Given the description of an element on the screen output the (x, y) to click on. 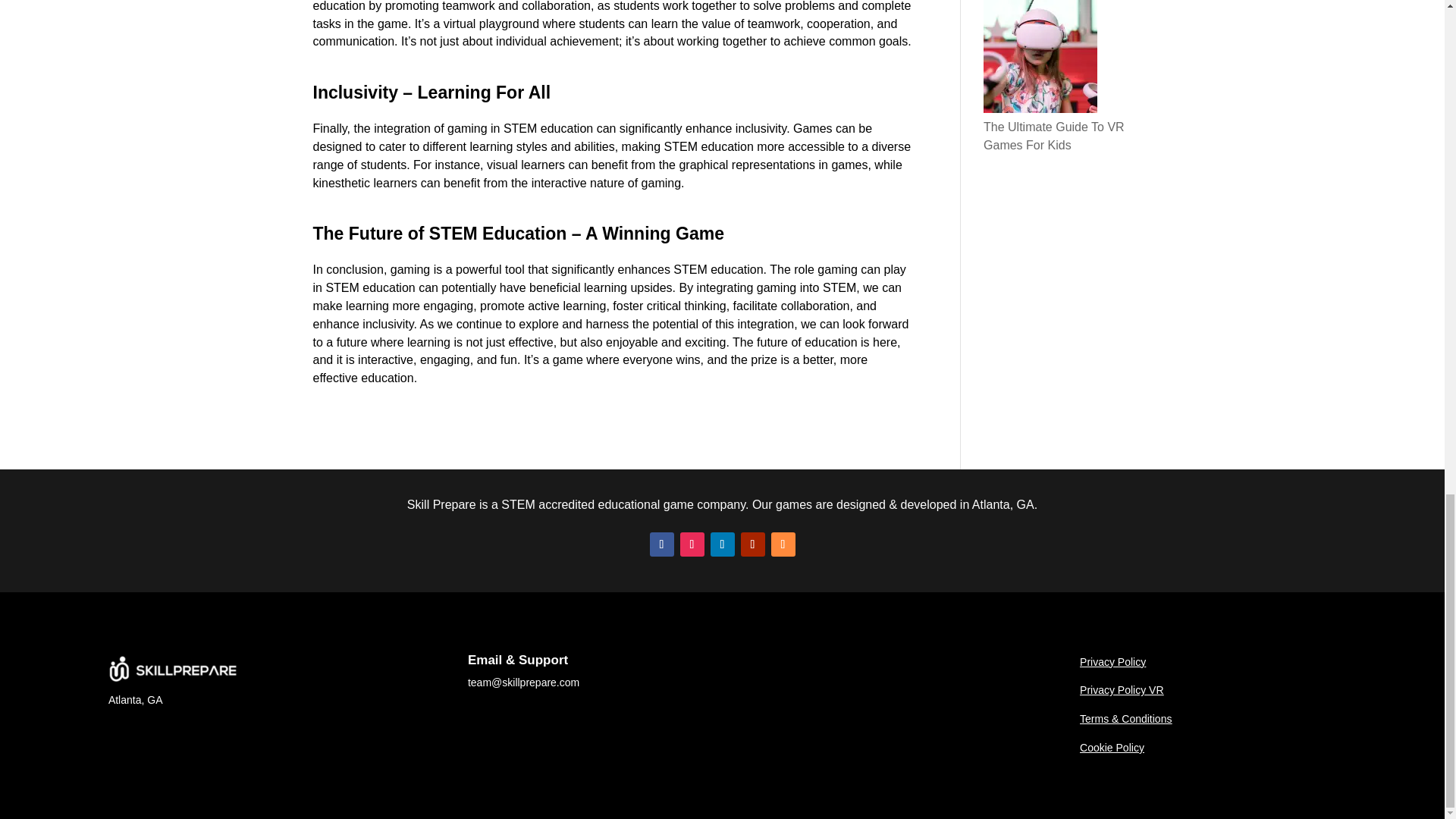
skillprepare-43px (173, 669)
Privacy Policy (1112, 662)
Follow on Facebook (660, 544)
The Ultimate Guide To VR Games For Kids (1054, 135)
Cookie Policy (1112, 747)
Privacy Policy VR (1121, 689)
Follow on Youtube (751, 544)
Follow on Instagram (691, 544)
Follow on LinkedIn (721, 544)
Follow on RSS (782, 544)
